Given the description of an element on the screen output the (x, y) to click on. 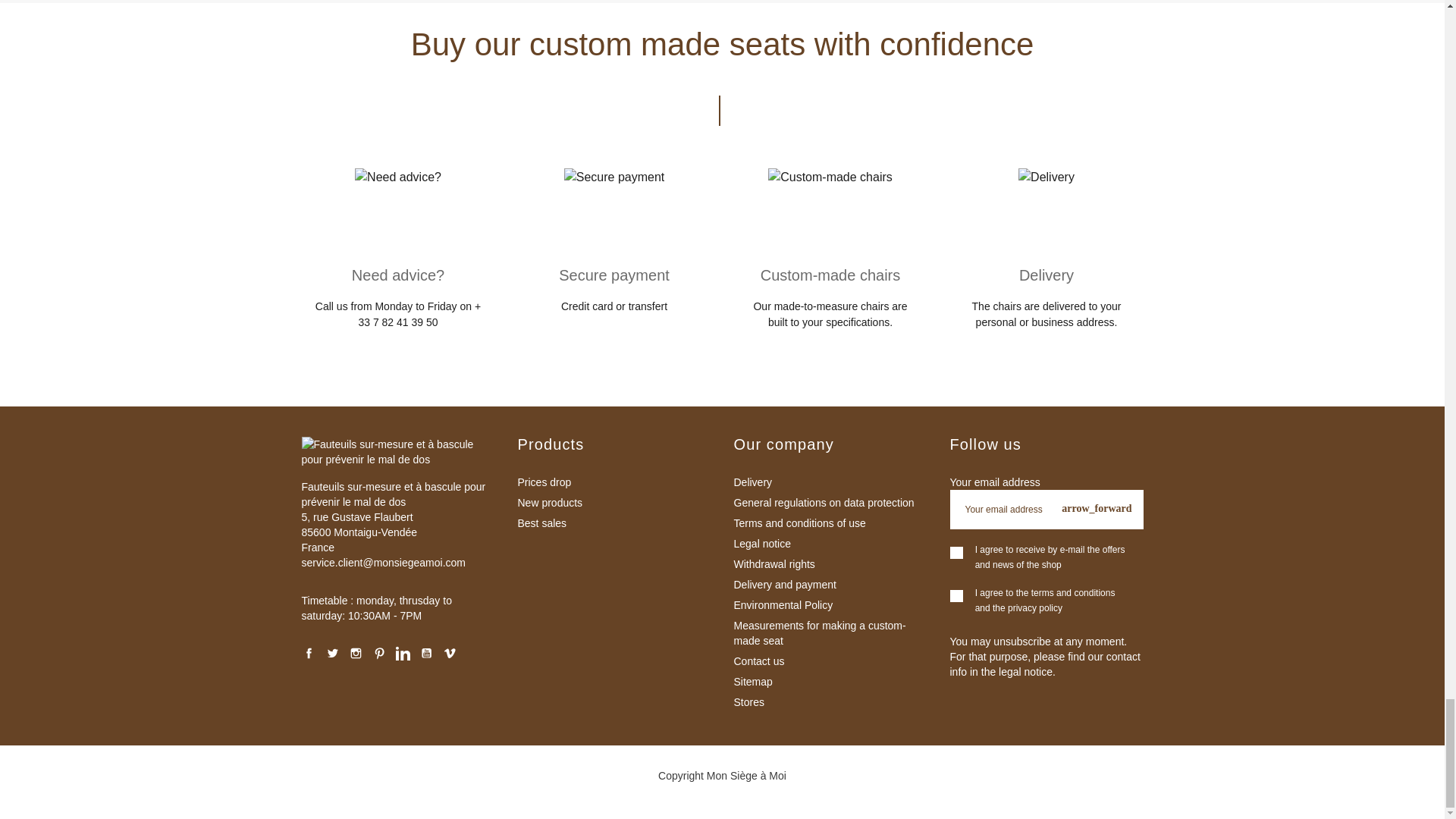
Our new products (613, 502)
Our special products (613, 482)
Our best sales (613, 522)
